Given the description of an element on the screen output the (x, y) to click on. 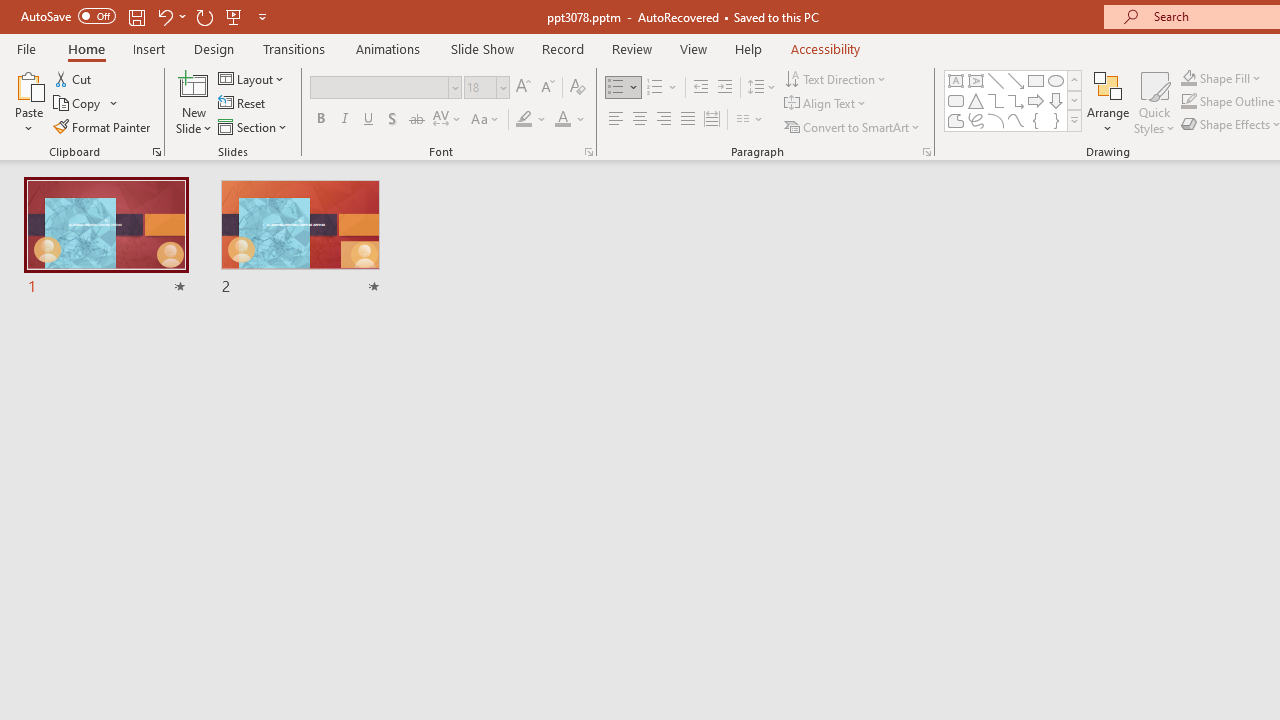
Shape Outline Green, Accent 1 (1188, 101)
